Given the description of an element on the screen output the (x, y) to click on. 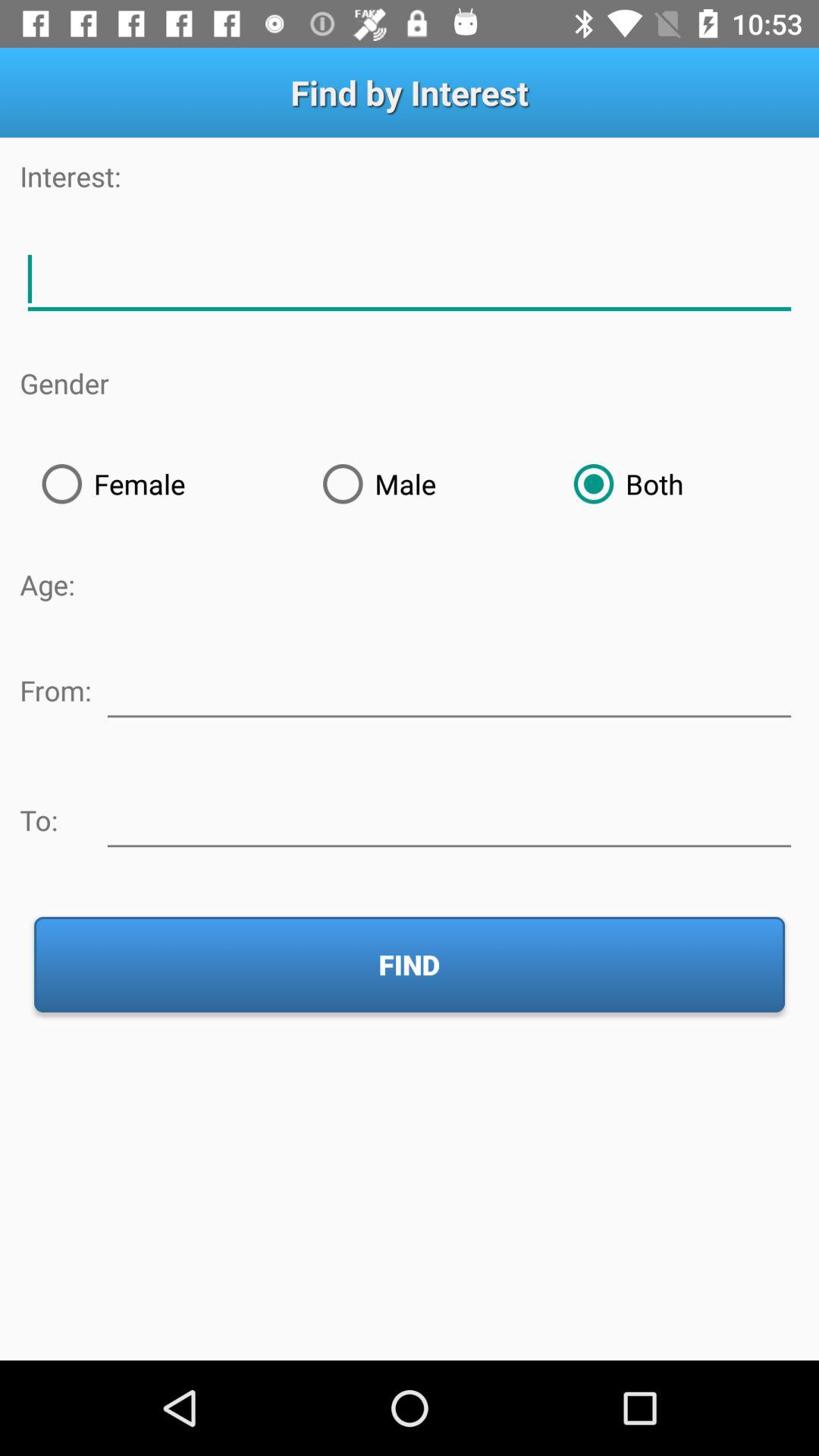
click item above the age: icon (160, 483)
